Given the description of an element on the screen output the (x, y) to click on. 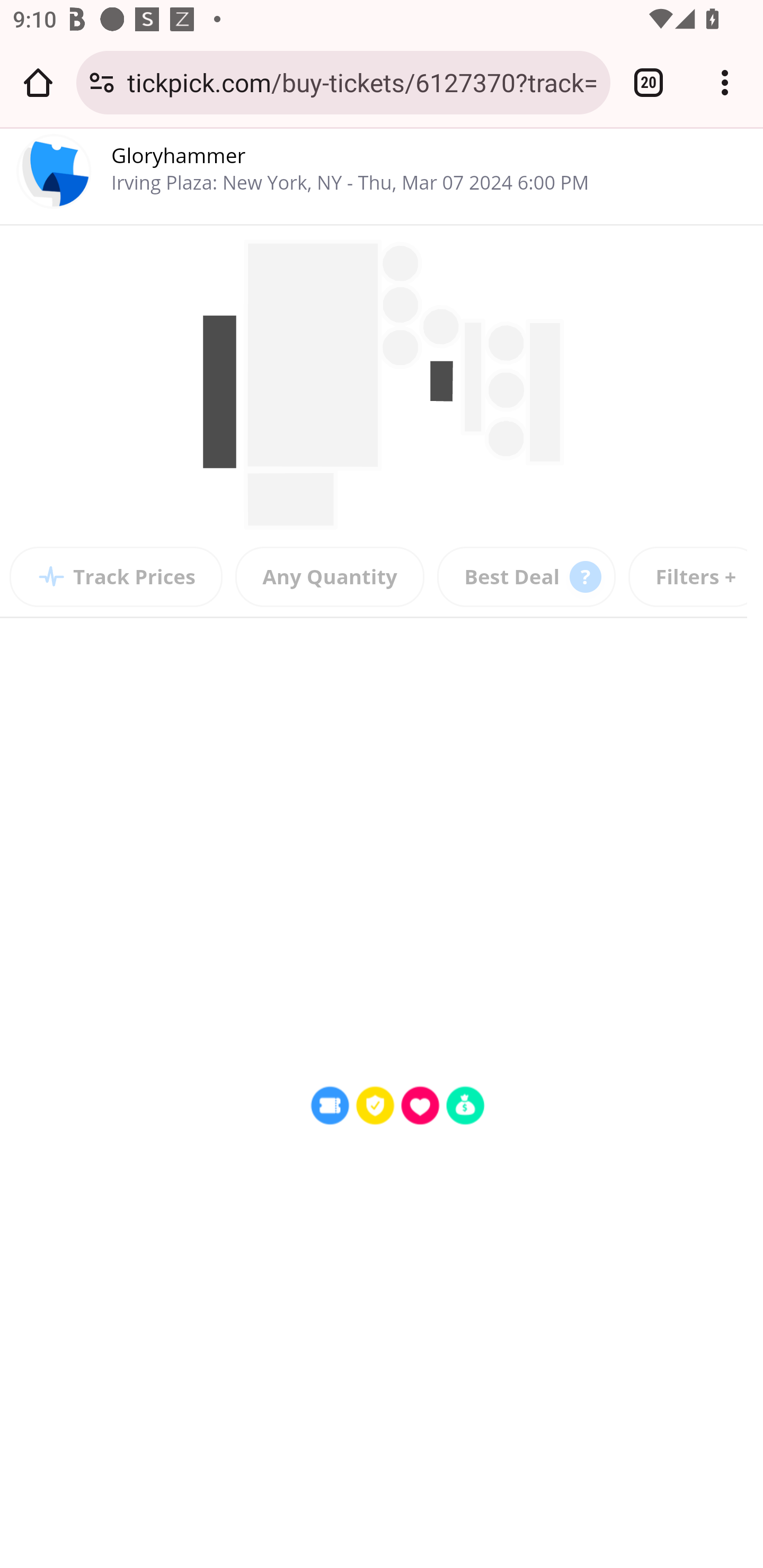
Open the home page (38, 82)
Connection is secure (101, 82)
Switch or close tabs (648, 82)
Customize and control Google Chrome (724, 82)
tickpick.com/buy-tickets/6127370?track=true (362, 82)
TickPick (54, 175)
Gloryhammer (178, 155)
Track Prices (116, 576)
Filters + (695, 576)
Filter by quantity (330, 576)
Sort By (526, 576)
